Given the description of an element on the screen output the (x, y) to click on. 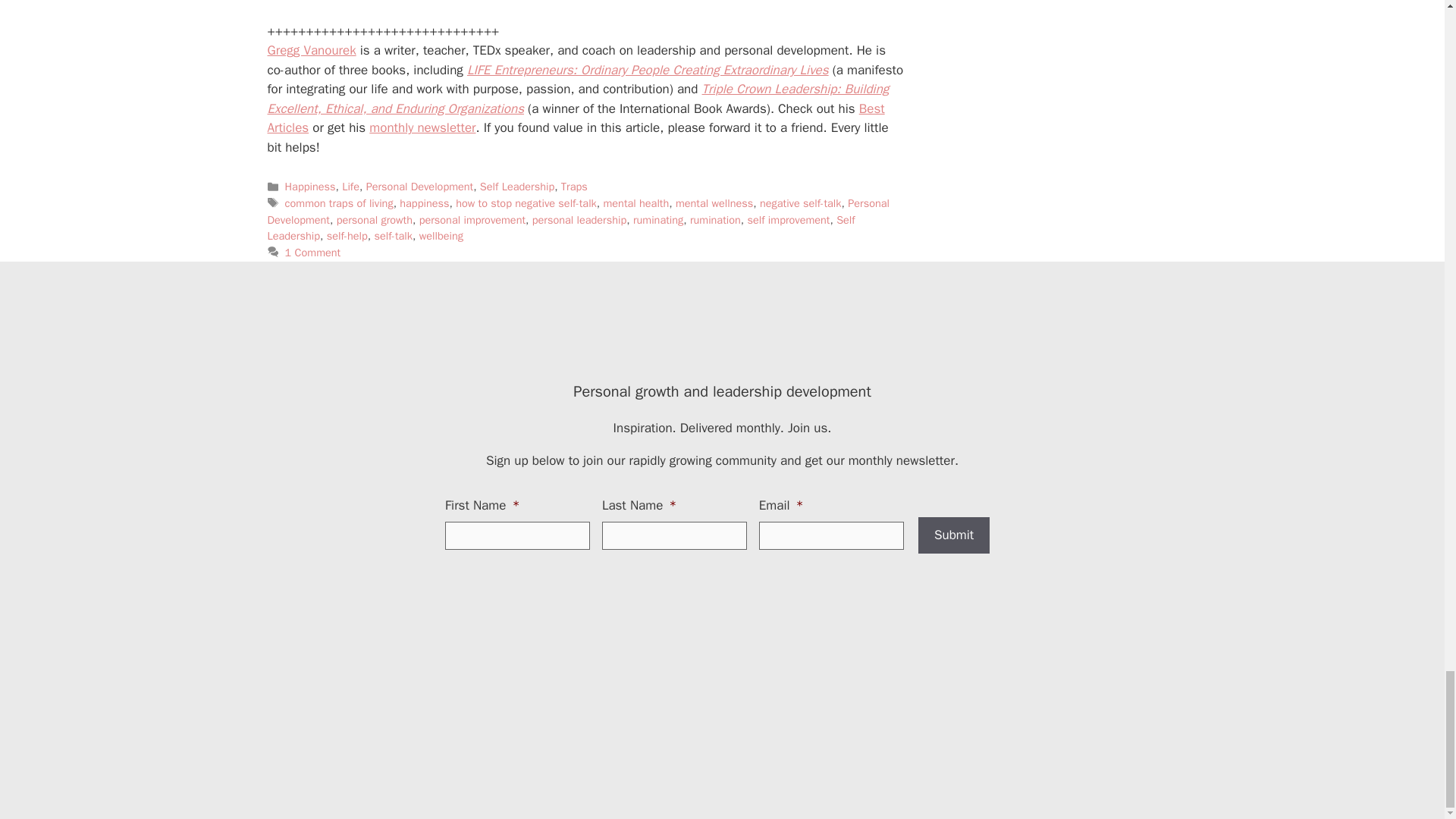
Submit (954, 534)
